Given the description of an element on the screen output the (x, y) to click on. 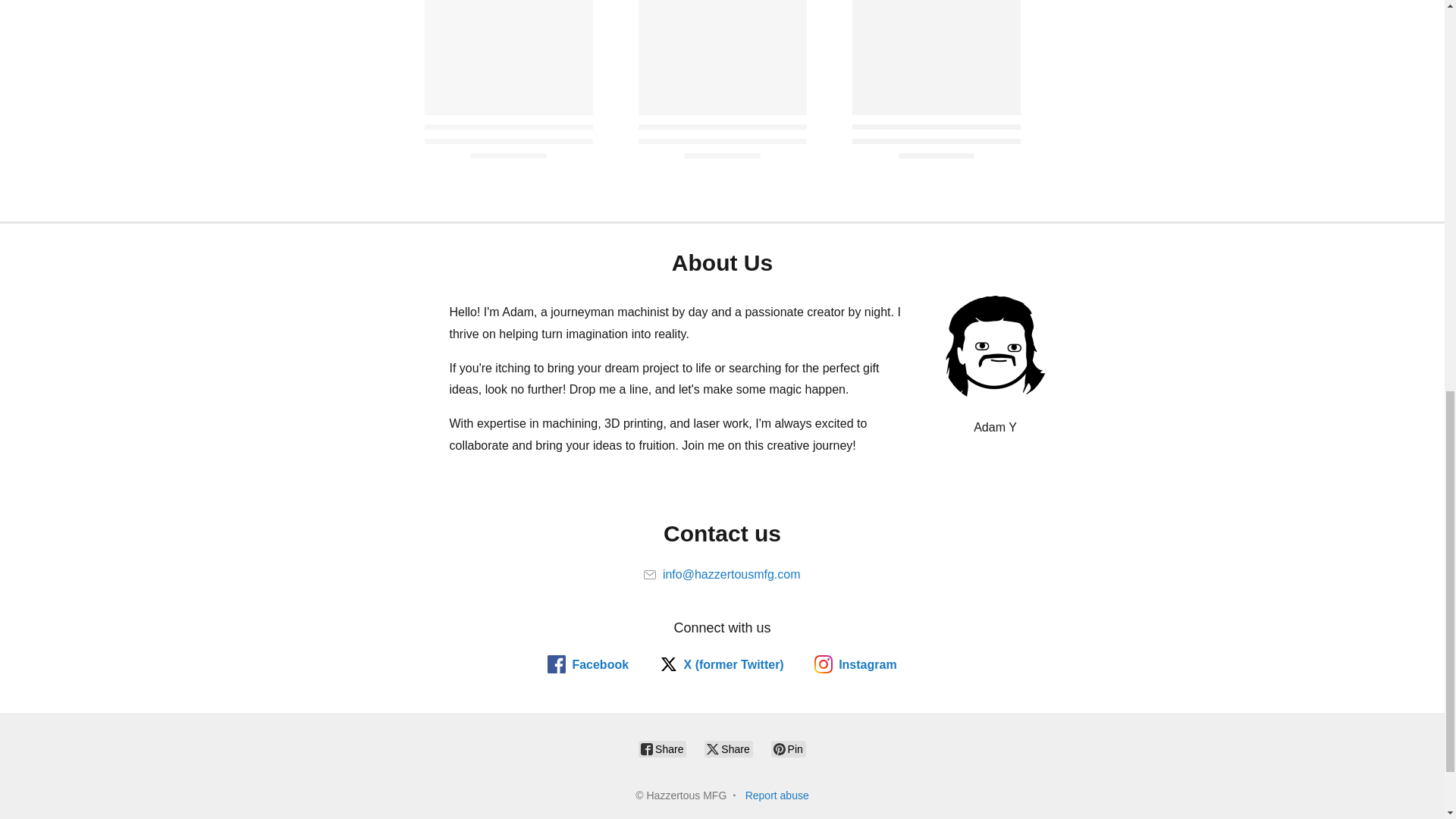
Share (728, 749)
Share (662, 749)
Report abuse (777, 795)
Pin (788, 749)
Facebook (587, 664)
Instagram (854, 664)
